Given the description of an element on the screen output the (x, y) to click on. 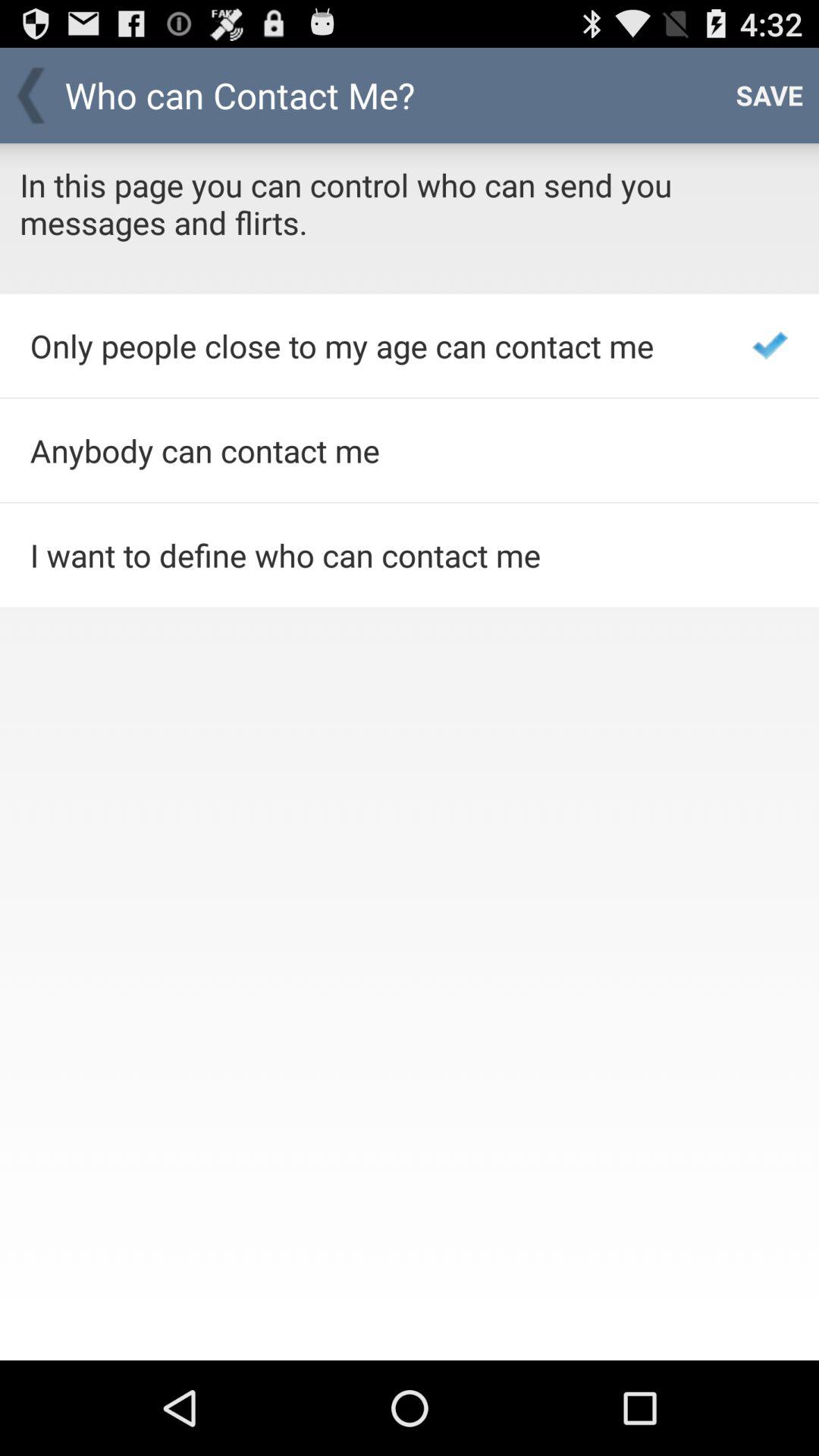
scroll to save icon (769, 95)
